Given the description of an element on the screen output the (x, y) to click on. 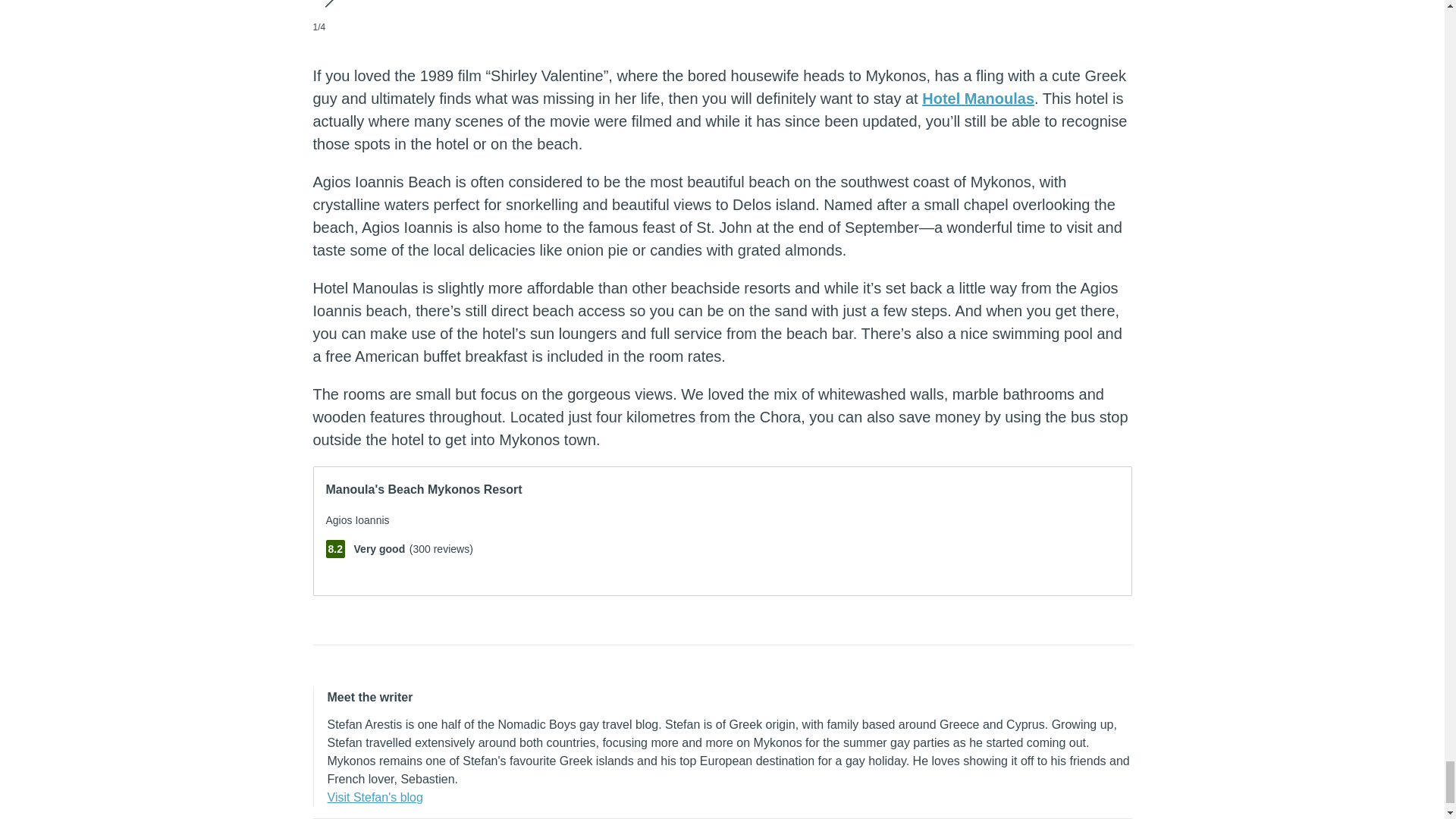
Visit Stefan's blog (375, 797)
Hotel Manoulas (977, 98)
